Given the description of an element on the screen output the (x, y) to click on. 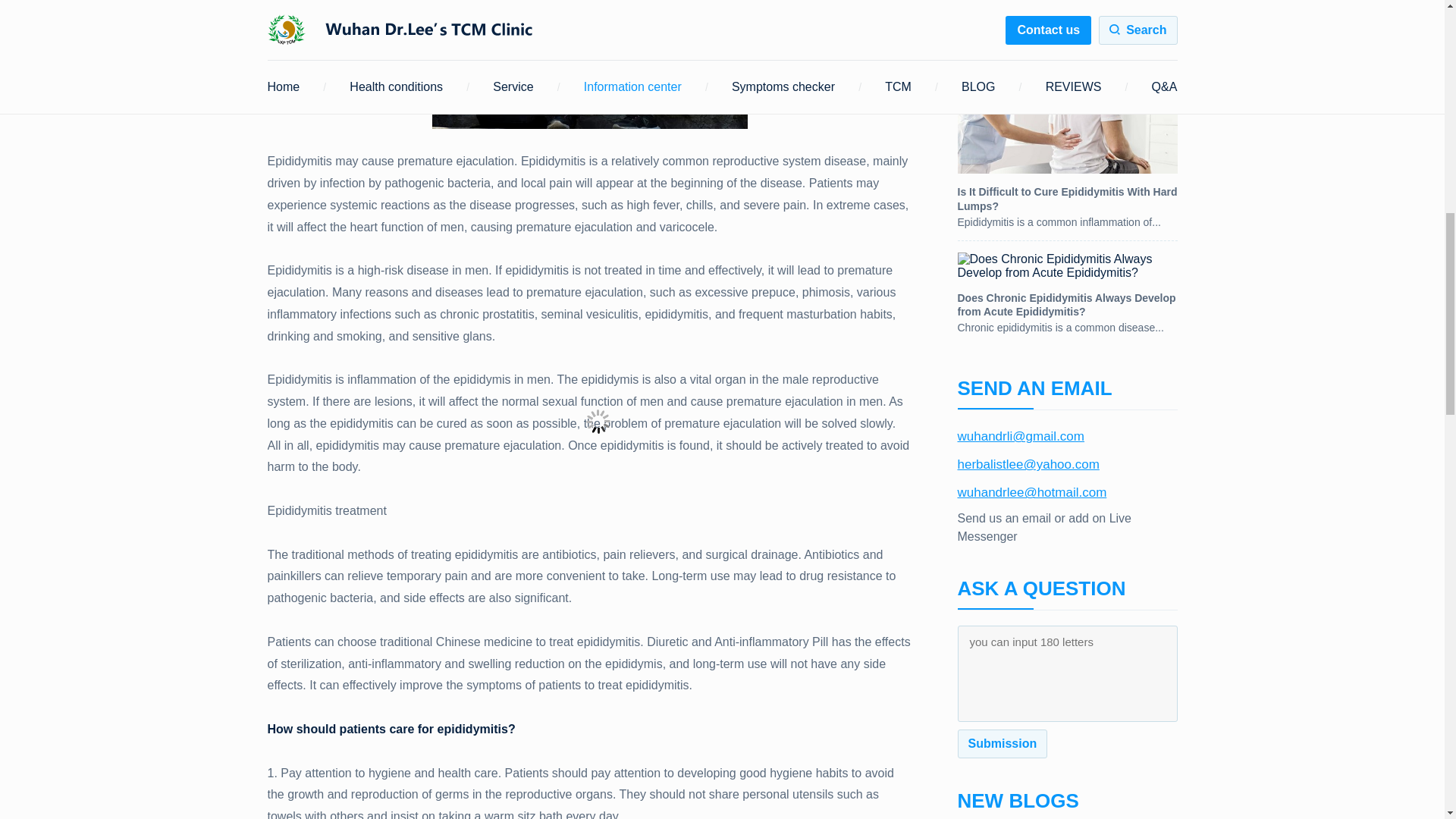
Is It Difficult to Cure Epididymitis With Hard Lumps? (1066, 144)
Submission (1001, 743)
Can Epididymitis Lead to Testicular Necrosis? (1066, 18)
